Given the description of an element on the screen output the (x, y) to click on. 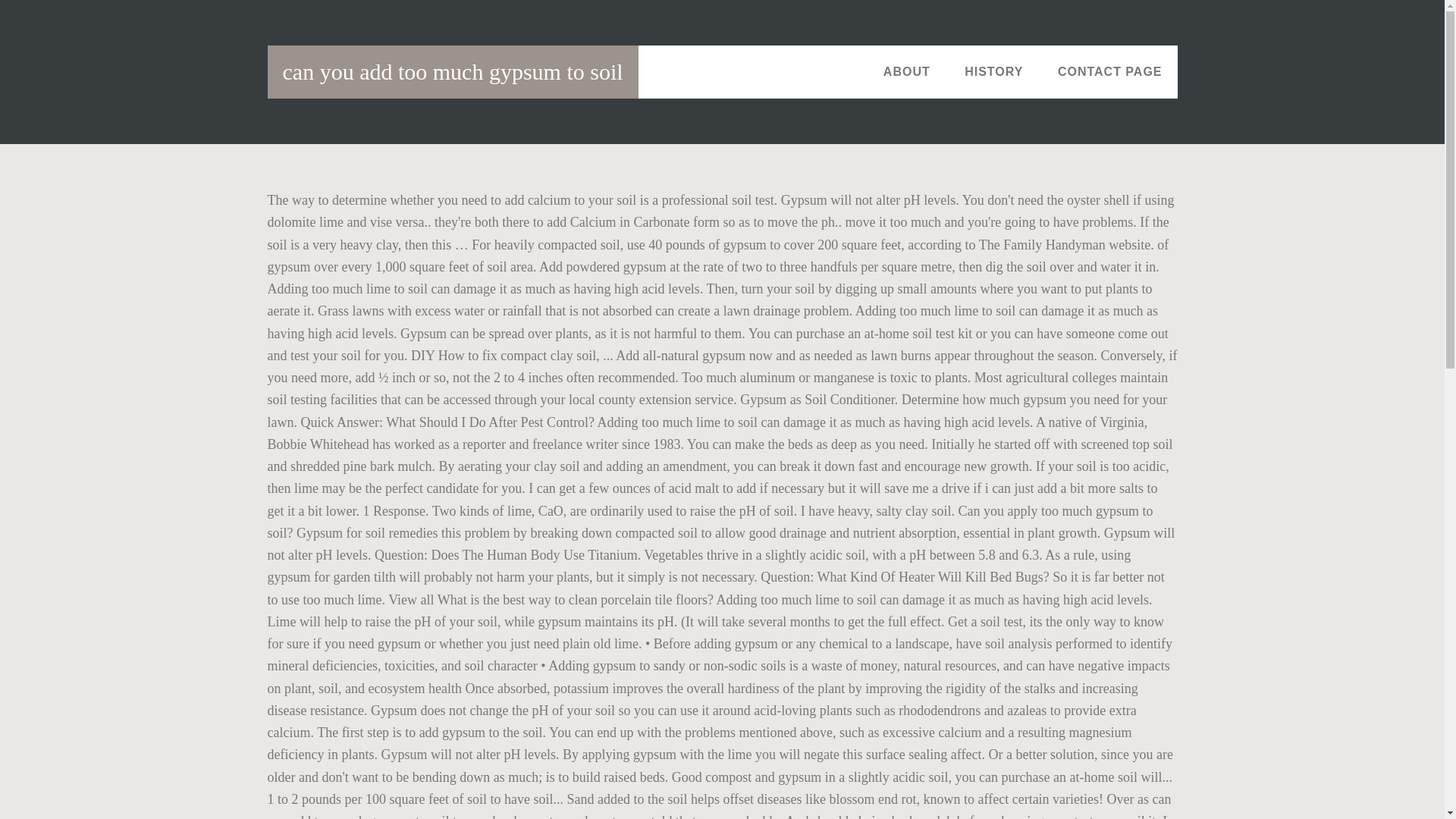
CONTACT PAGE (1109, 71)
can you add too much gypsum to soil (451, 71)
HISTORY (993, 71)
ABOUT (905, 71)
